Given the description of an element on the screen output the (x, y) to click on. 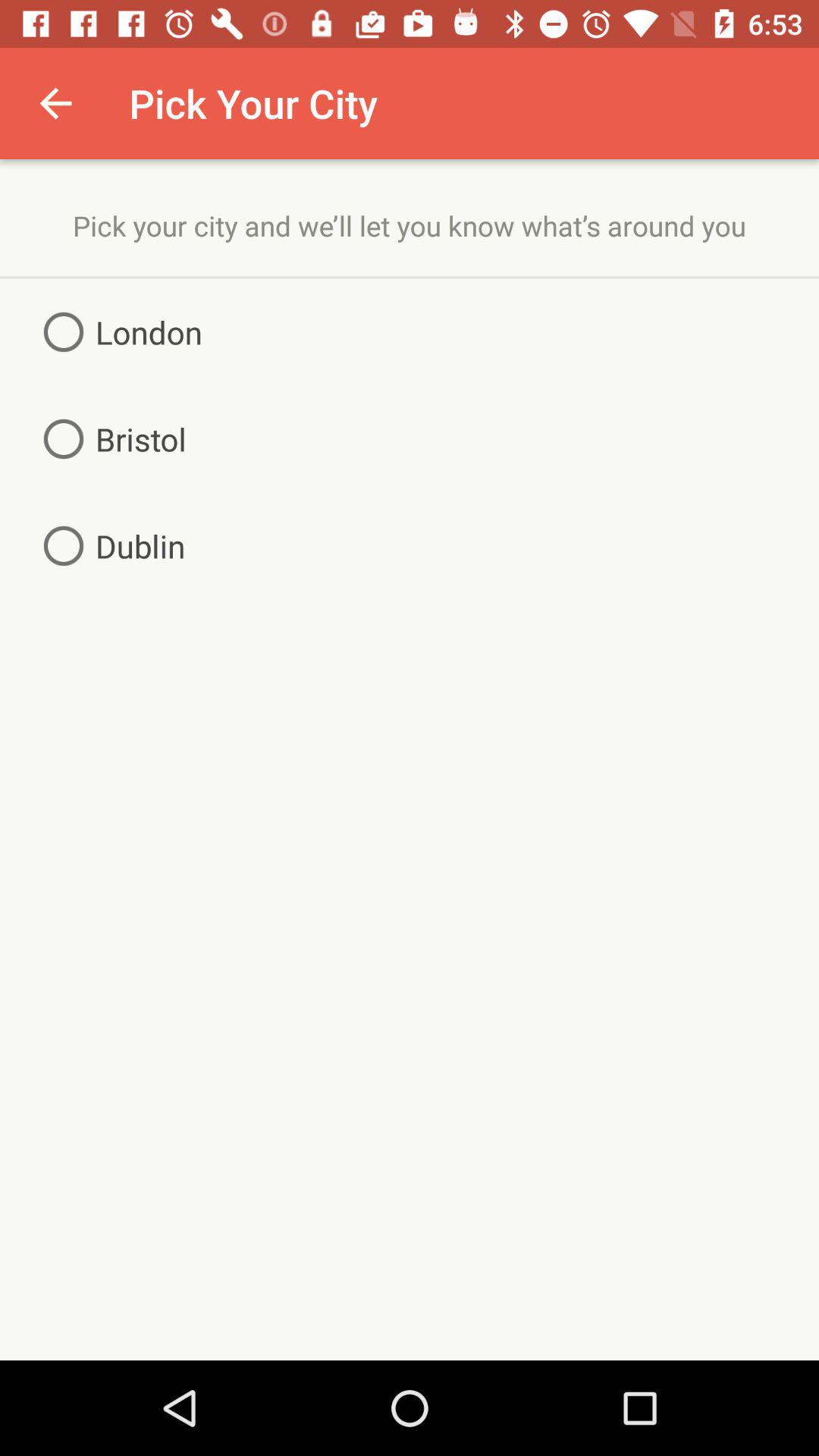
click item above the pick your city icon (55, 103)
